Given the description of an element on the screen output the (x, y) to click on. 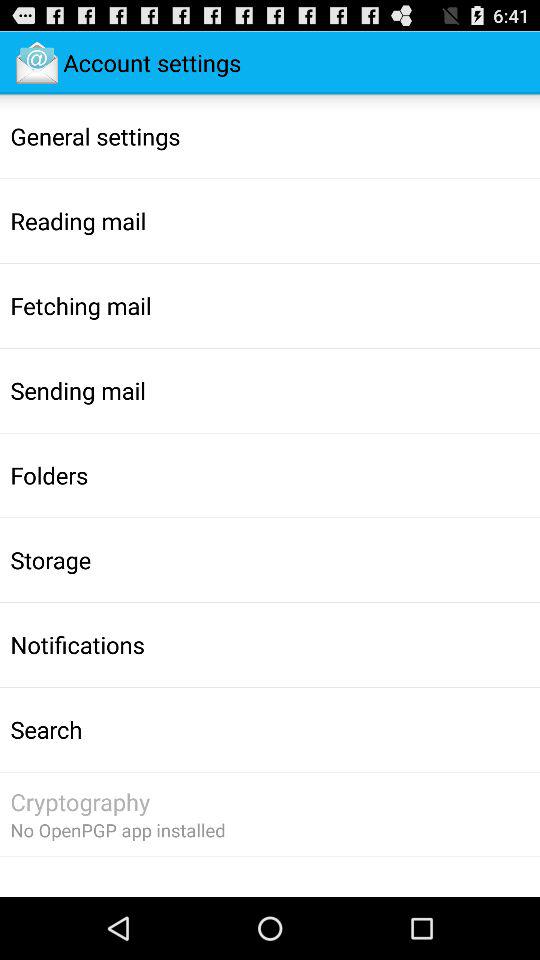
click icon below the notifications app (46, 729)
